Given the description of an element on the screen output the (x, y) to click on. 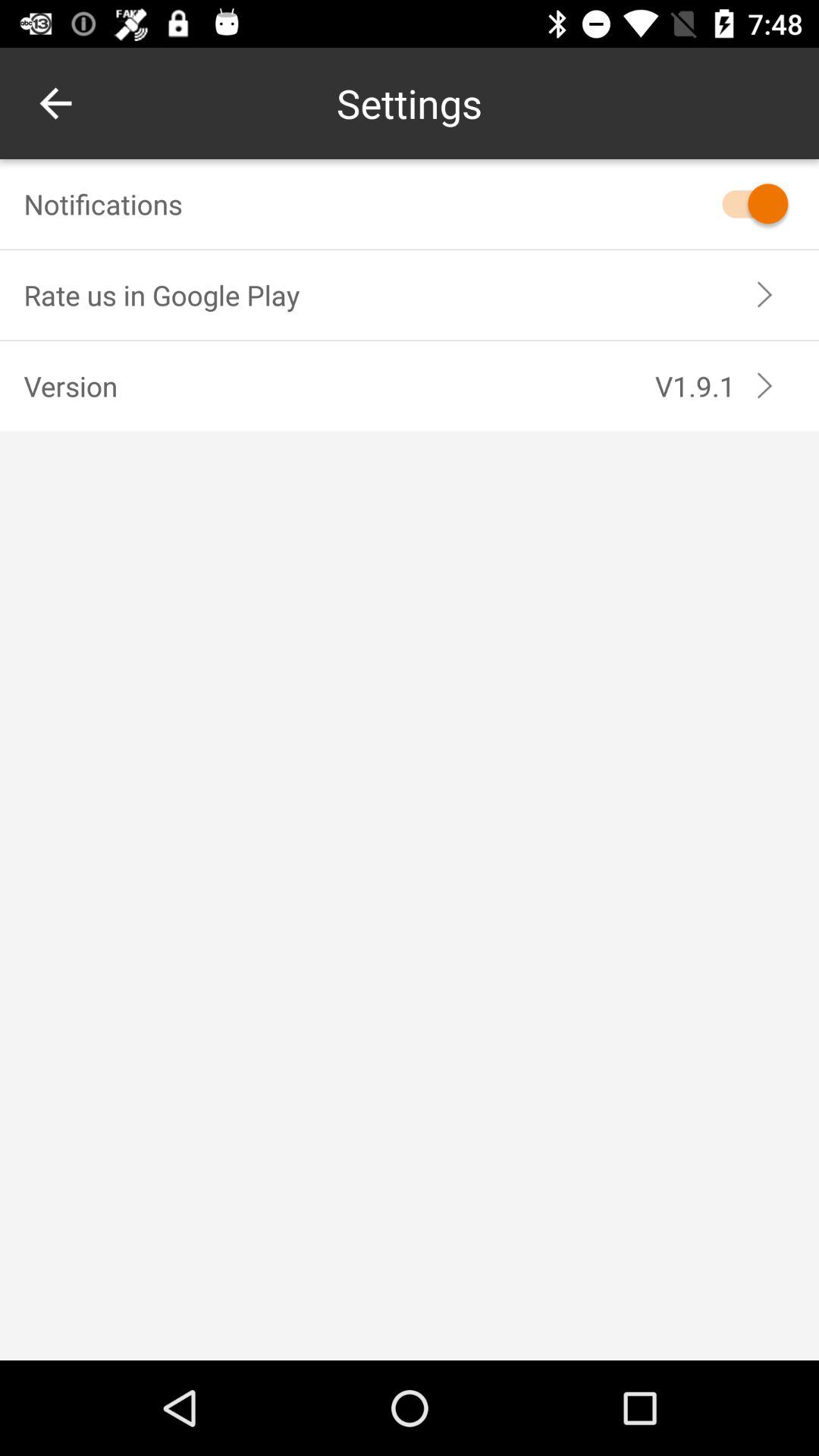
toggle notifications (747, 203)
